Given the description of an element on the screen output the (x, y) to click on. 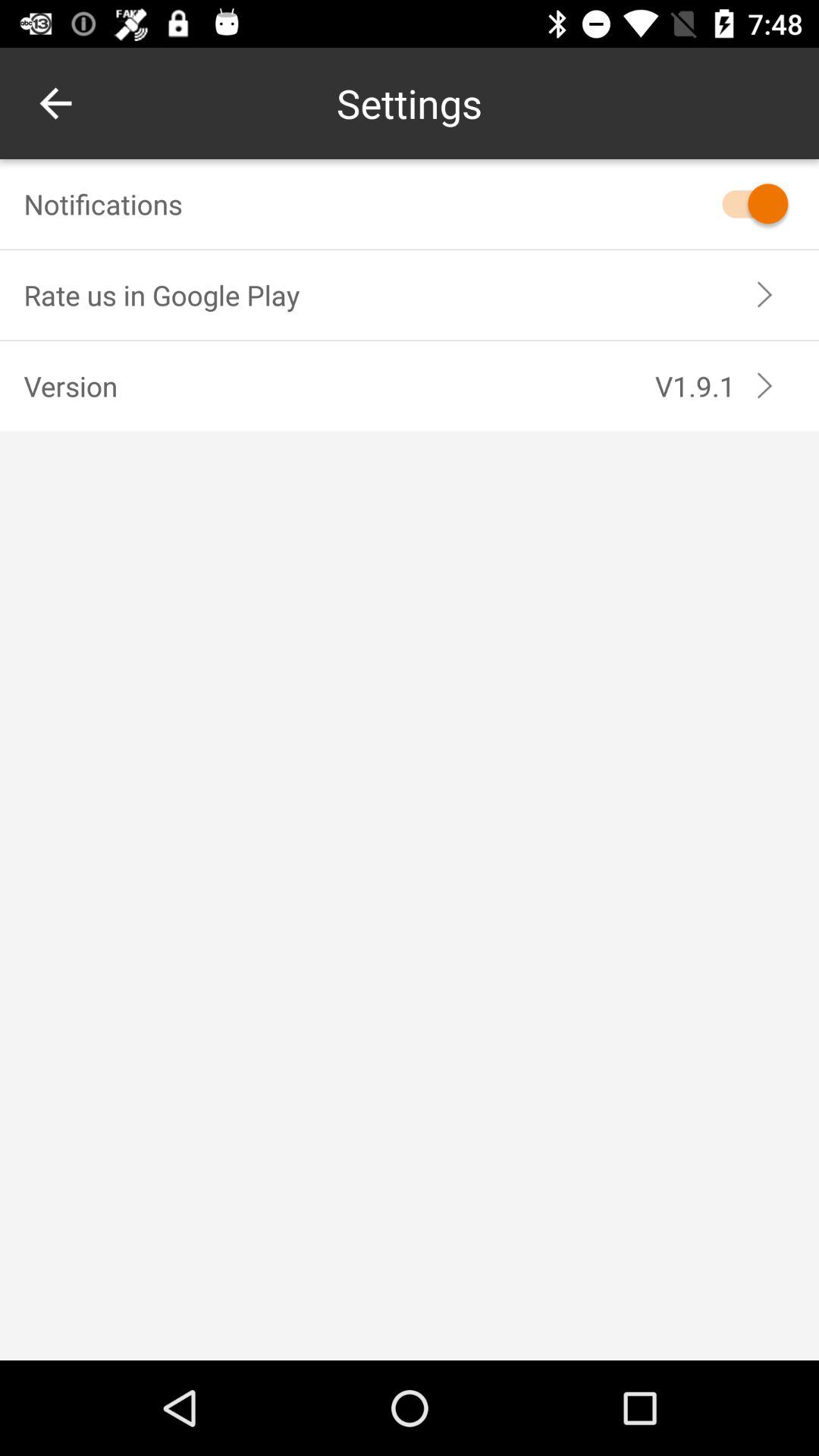
toggle notifications (747, 203)
